Given the description of an element on the screen output the (x, y) to click on. 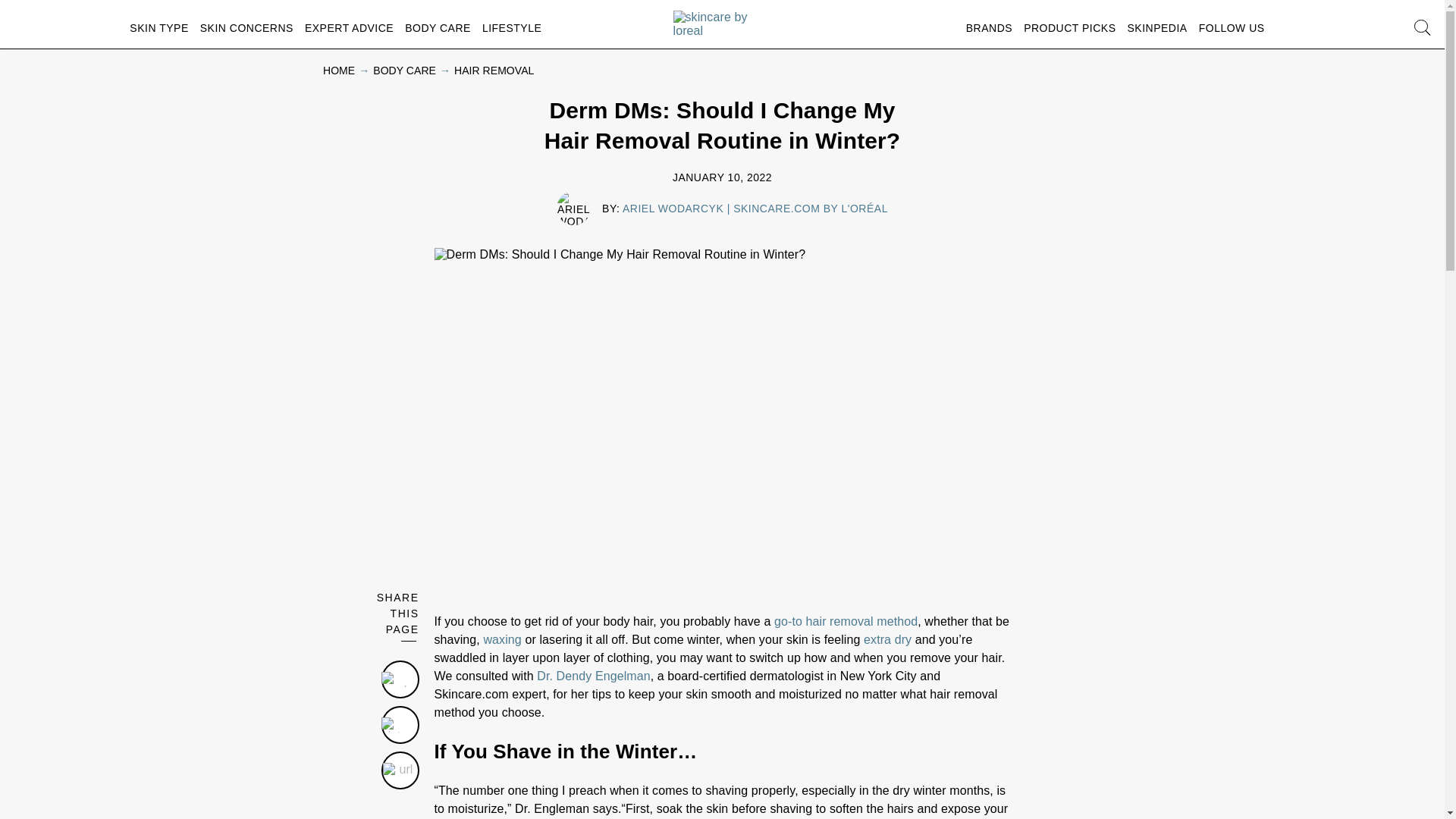
EXPERT ADVICE (348, 27)
SKIN CONCERNS (247, 27)
SKIN TYPE (158, 27)
BODY CARE (437, 27)
LIFESTYLE (511, 27)
